Given the description of an element on the screen output the (x, y) to click on. 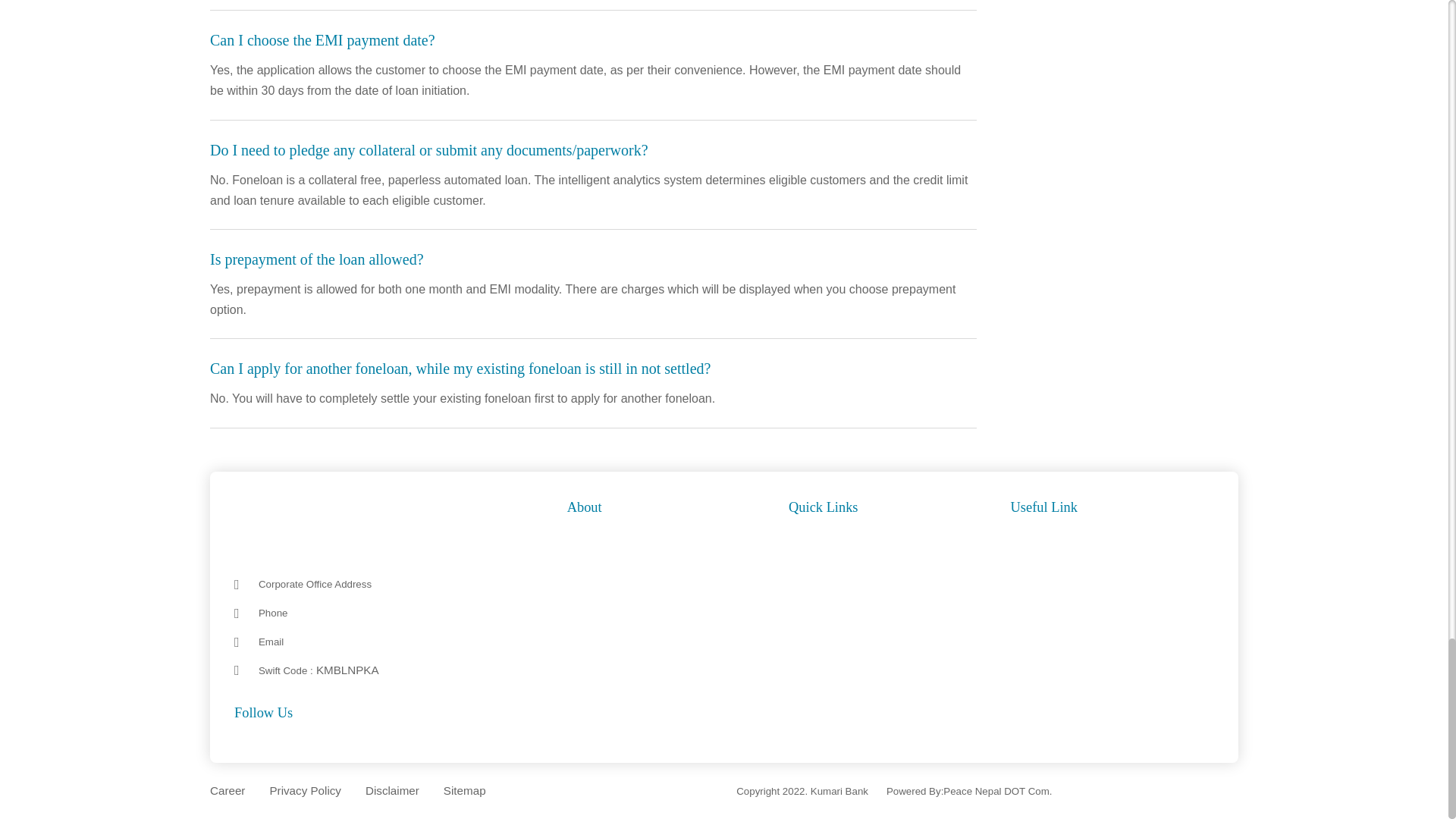
Disclaimer (392, 793)
Sitemap (465, 792)
Peace Nepal DOT Com. (997, 793)
Privacy Policy (304, 793)
Career (226, 793)
